Given the description of an element on the screen output the (x, y) to click on. 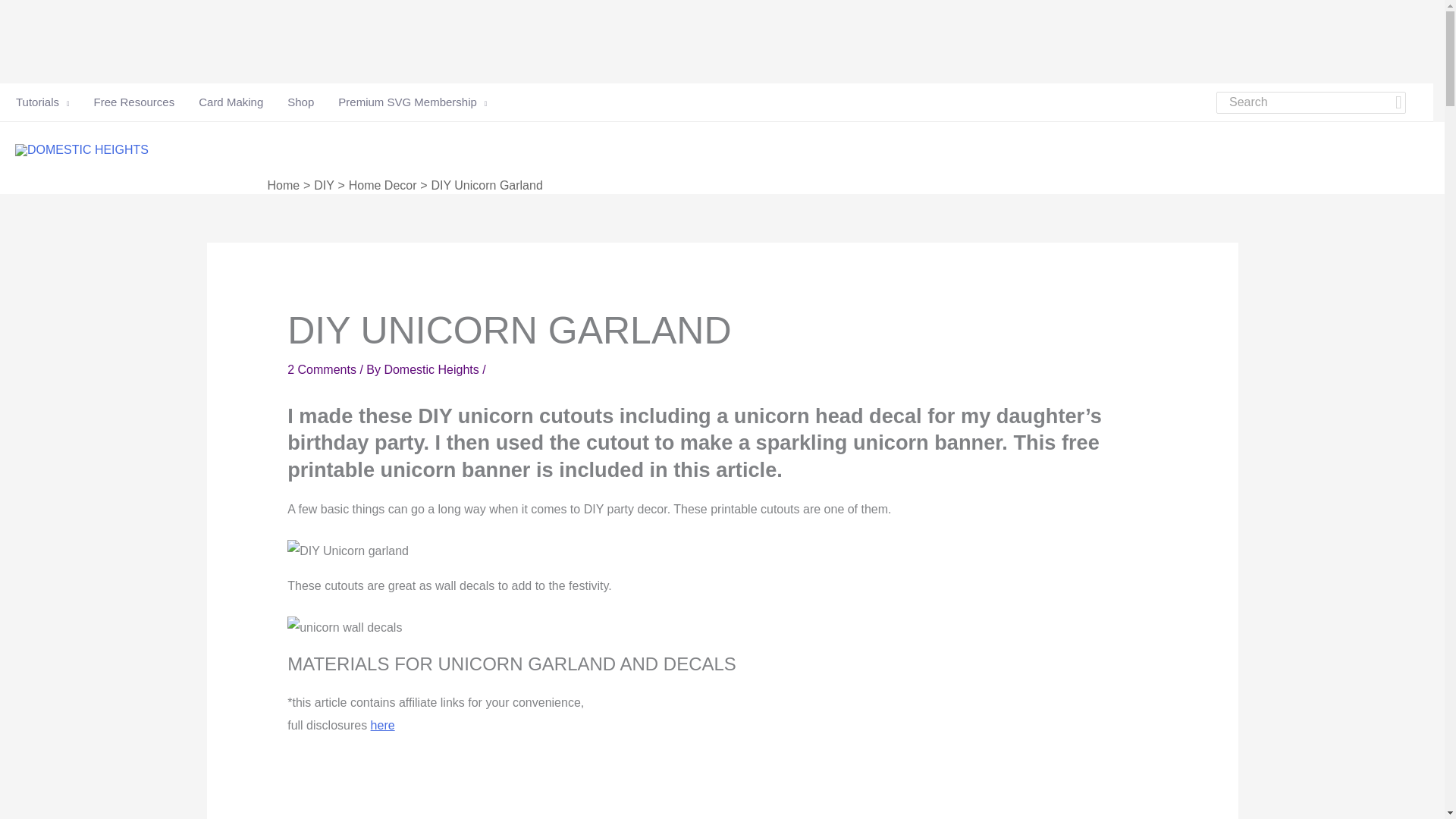
DIY (324, 185)
Home (282, 185)
Home Decor (382, 185)
Premium SVG Membership (406, 102)
Free Resources (133, 102)
Shop (300, 102)
Tutorials (42, 102)
Card Making (230, 102)
View all posts by Domestic Heights (432, 369)
